Given the description of an element on the screen output the (x, y) to click on. 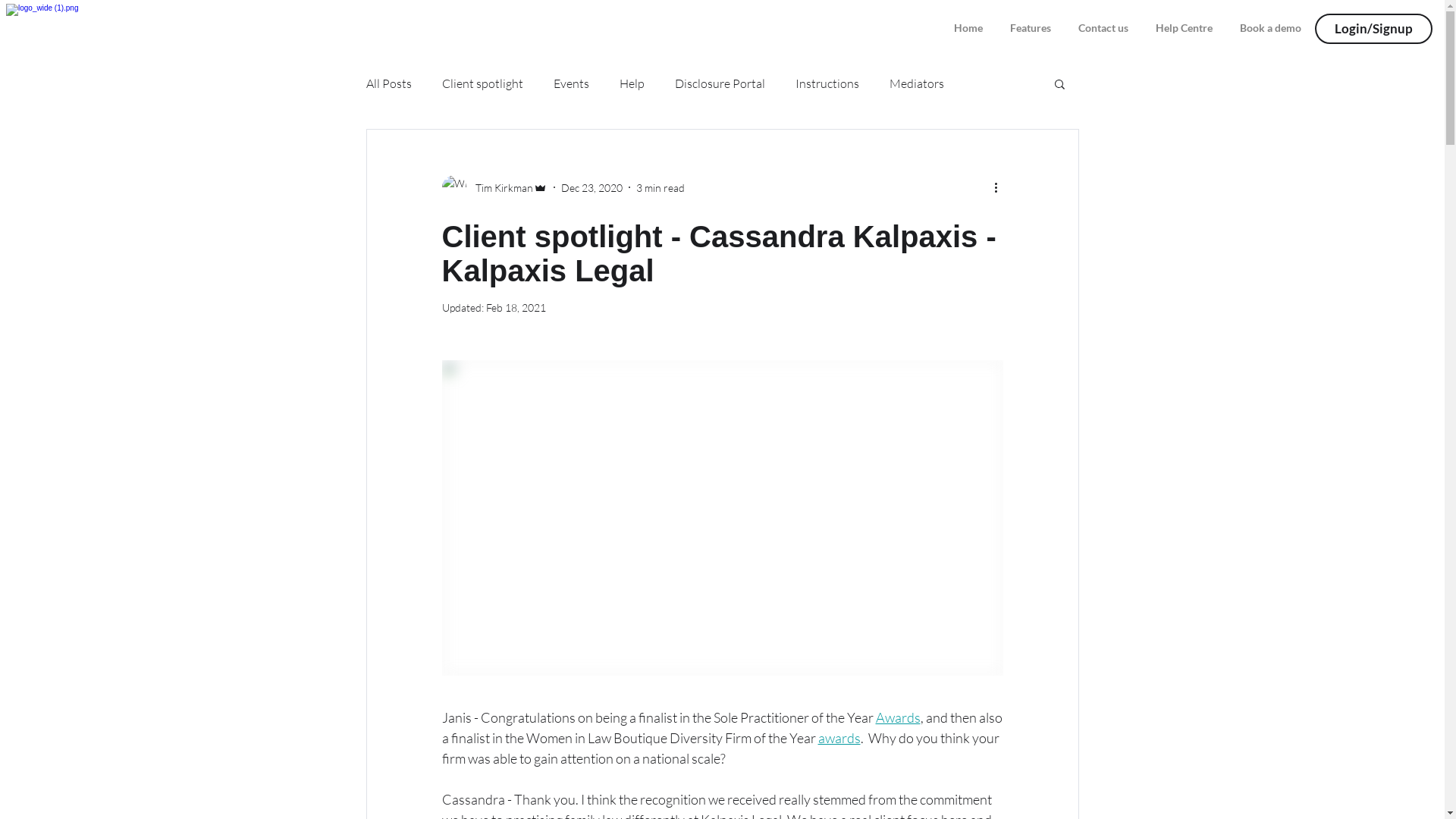
Instructions Element type: text (826, 83)
Client spotlight Element type: text (481, 83)
Tim Kirkman Element type: text (493, 187)
Awards Element type: text (897, 717)
Disclosure Portal Element type: text (719, 83)
Home Element type: text (968, 21)
Mediators Element type: text (915, 83)
Login/Signup Element type: text (1373, 28)
Help Element type: text (630, 83)
Features Element type: text (1030, 21)
Help Centre Element type: text (1184, 21)
All Posts Element type: text (388, 83)
awards Element type: text (838, 737)
Contact us Element type: text (1103, 21)
Events Element type: text (571, 83)
Book a demo Element type: text (1270, 21)
